Given the description of an element on the screen output the (x, y) to click on. 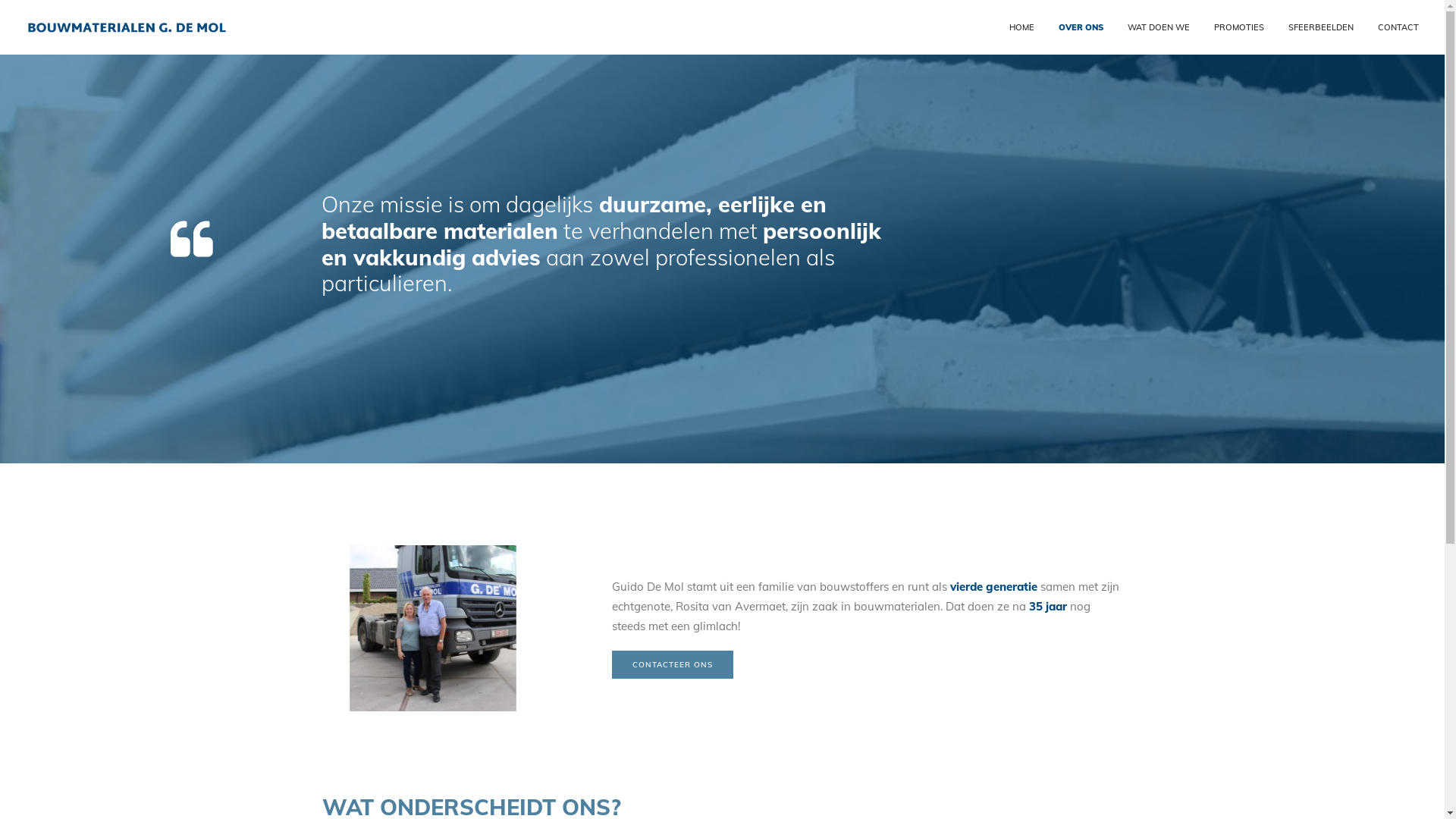
HOME Element type: text (1026, 27)
CONTACTEER ONS Element type: text (671, 664)
SFEERBEELDEN Element type: text (1320, 27)
OVER ONS Element type: text (1080, 27)
PROMOTIES Element type: text (1238, 27)
WAT DOEN WE Element type: text (1157, 27)
CONTACT Element type: text (1392, 27)
